Given the description of an element on the screen output the (x, y) to click on. 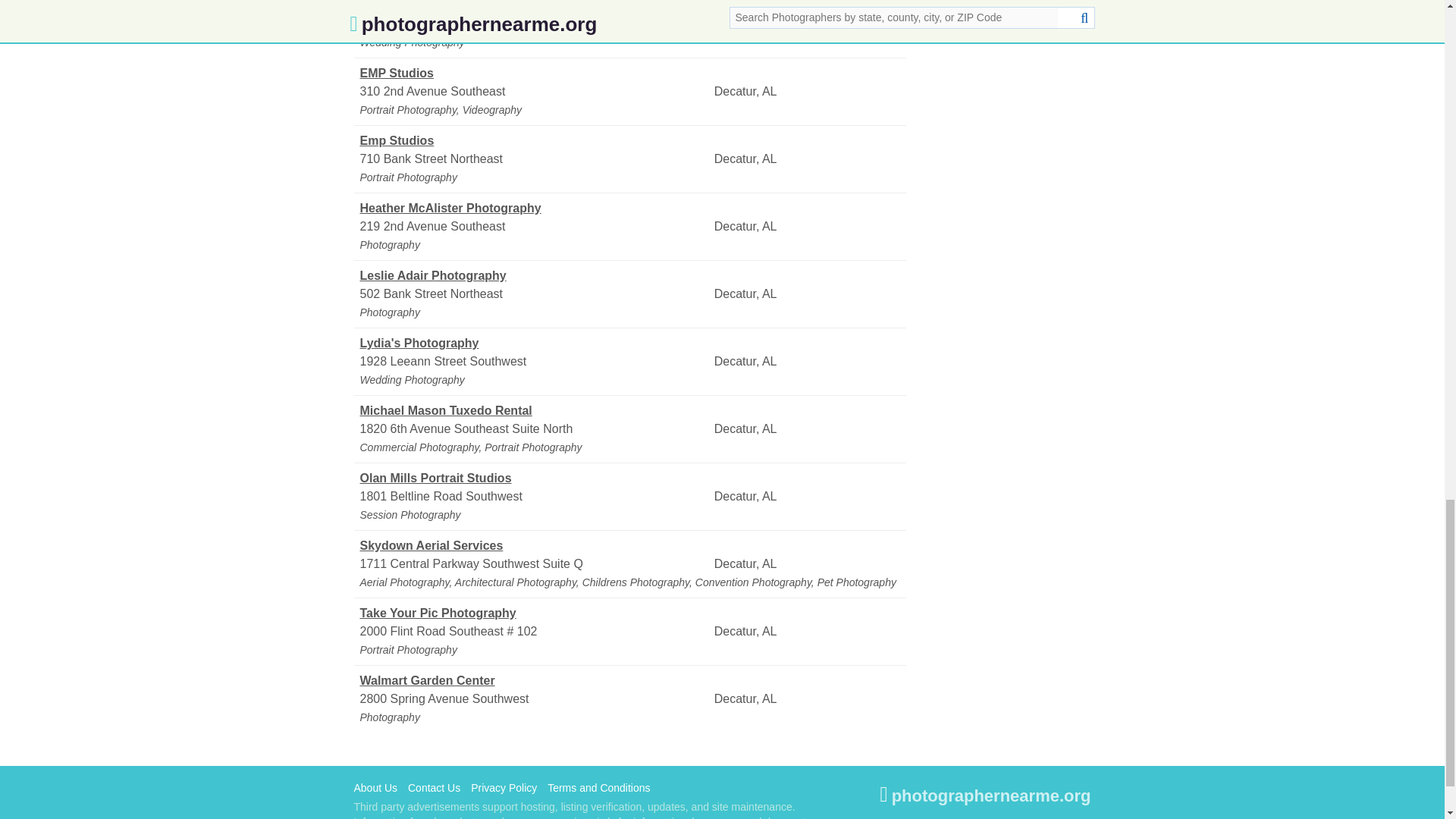
Lydia's Photography (534, 343)
Leslie Adair Photography (534, 275)
Olan Mills Portrait Studios in Decatur, Alabama (534, 478)
Michael Mason Tuxedo Rental (534, 411)
Heather McAlister Photography in Decatur, Alabama (534, 208)
Take Your Pic Photography in Decatur, Alabama (534, 613)
Take Your Pic Photography (534, 613)
Emp Studios in Decatur, Alabama (534, 140)
Emp Studios (534, 140)
David Higginbotham Photography in Decatur, Alabama (534, 7)
Michael Mason Tuxedo Rental in Decatur, Alabama (534, 411)
Olan Mills Portrait Studios (534, 478)
Skydown Aerial Services (534, 546)
Skydown Aerial Services in Decatur, Alabama (534, 546)
Lydia's Photography in Decatur, Alabama (534, 343)
